Given the description of an element on the screen output the (x, y) to click on. 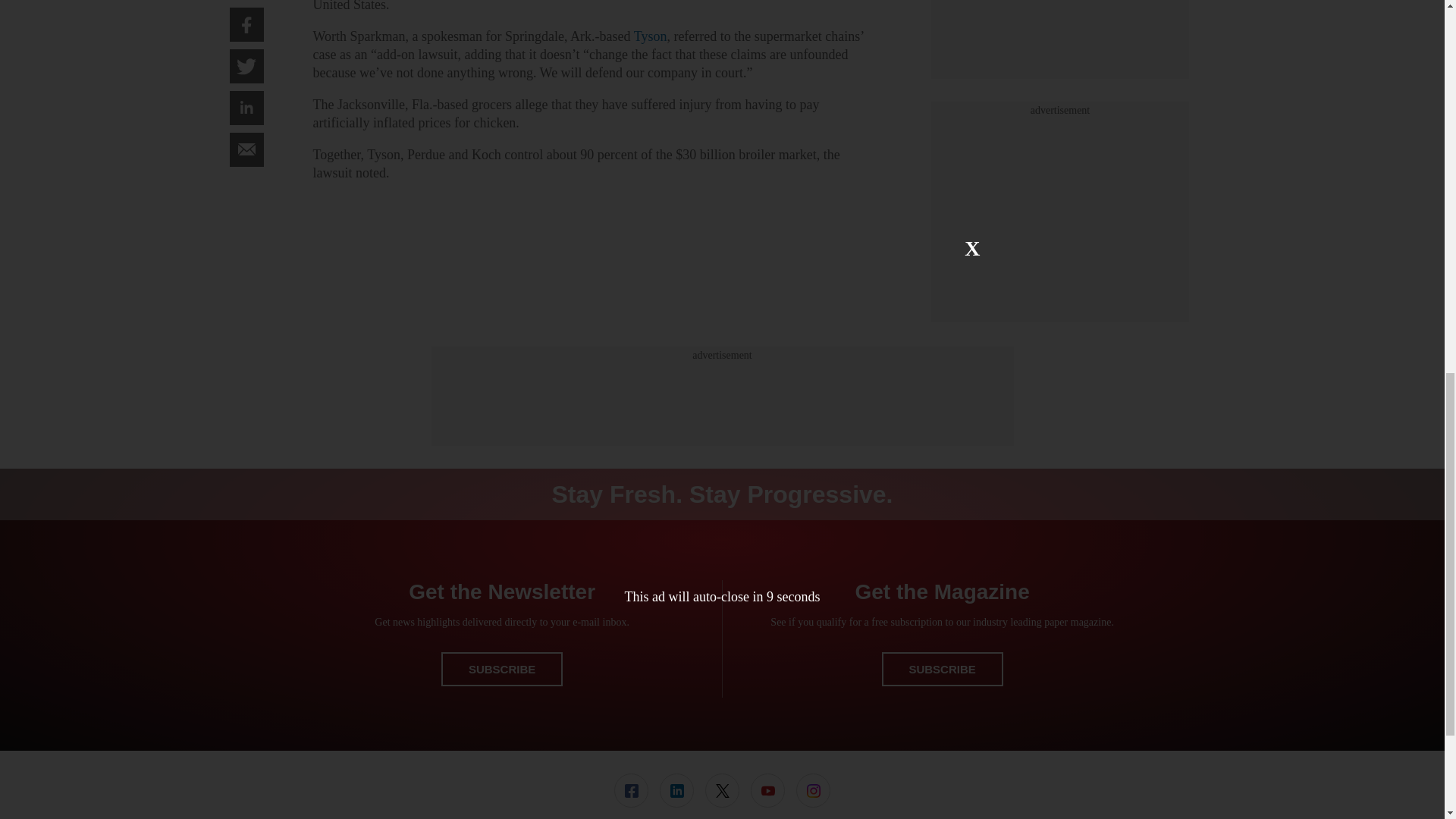
3rd party ad content (721, 396)
3rd party ad content (1059, 49)
